Given the description of an element on the screen output the (x, y) to click on. 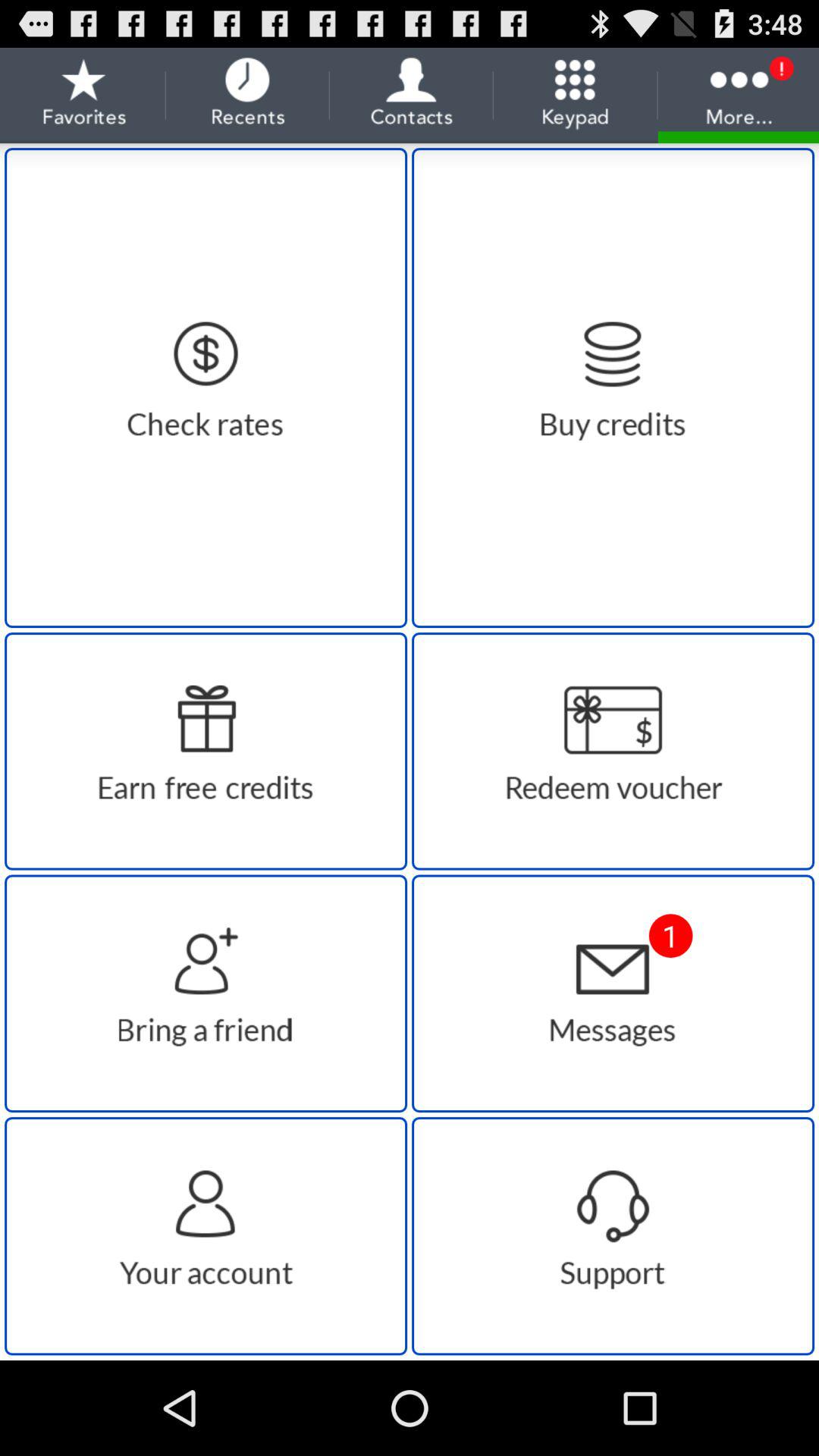
select message box (612, 993)
